Given the description of an element on the screen output the (x, y) to click on. 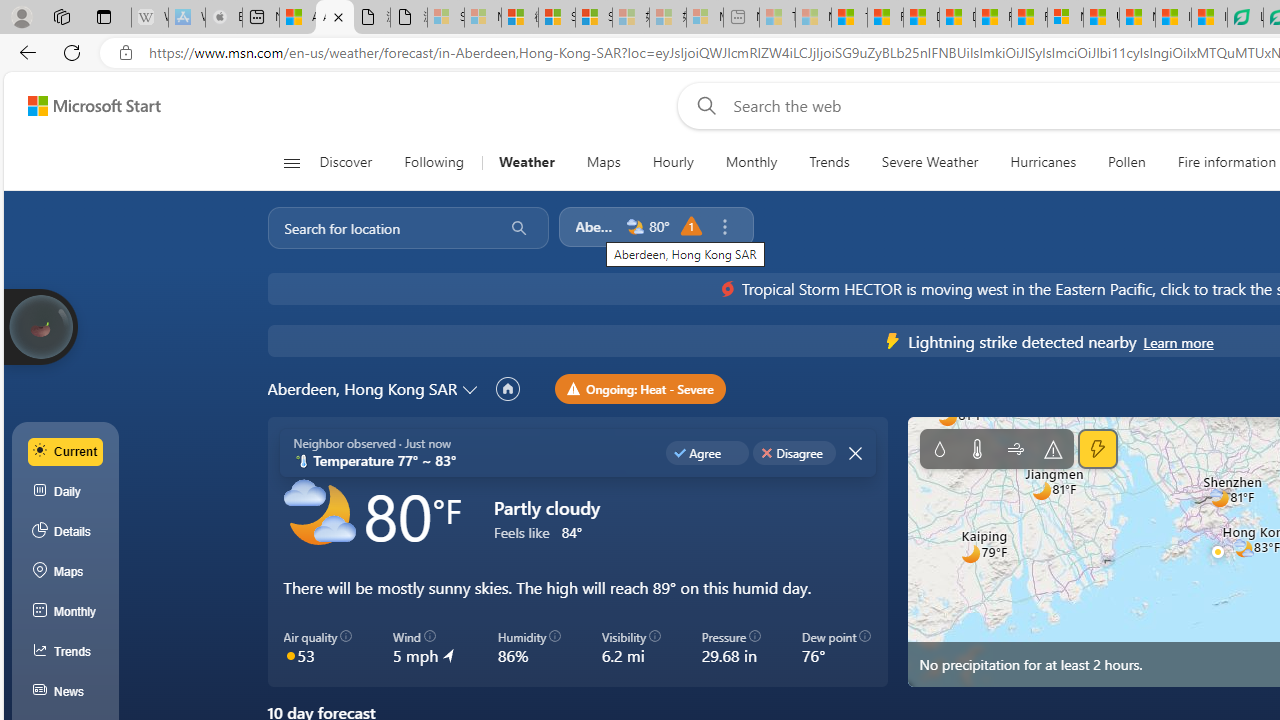
Set as primary location (508, 389)
Monthly (751, 162)
Foo BAR | Trusted Community Engagement and Contributions (1029, 17)
Food and Drink - MSN (884, 17)
Weather (526, 162)
Class: button-glyph (290, 162)
Open navigation menu (291, 162)
Monthly (751, 162)
US Heat Deaths Soared To Record High Last Year (1101, 17)
